Given the description of an element on the screen output the (x, y) to click on. 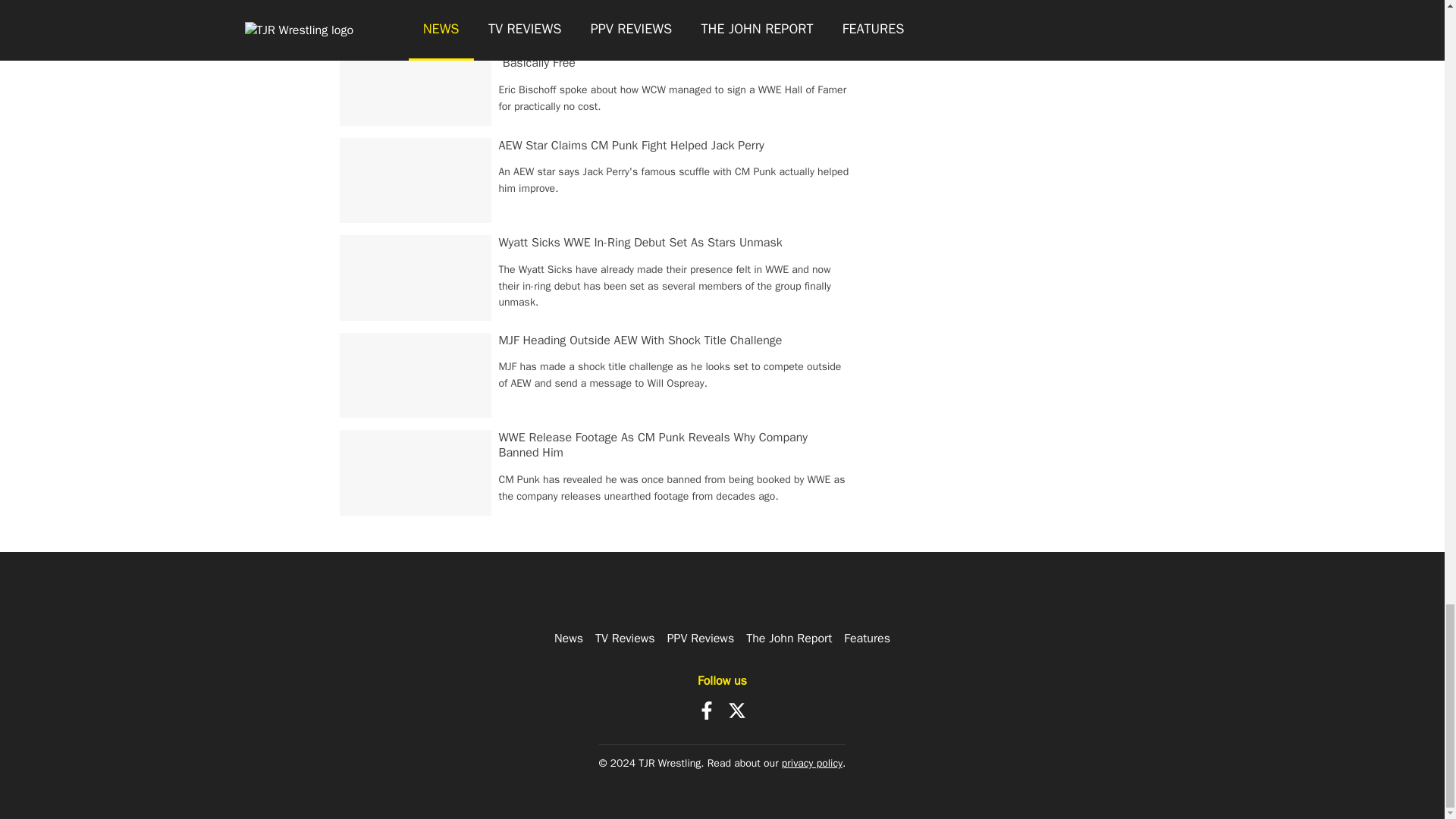
Wyatt Sicks WWE In-Ring Debut Set As Stars Unmask (641, 242)
X (736, 710)
Facebook (706, 710)
AEW Star Claims CM Punk Fight Helped Jack Perry (631, 145)
